Given the description of an element on the screen output the (x, y) to click on. 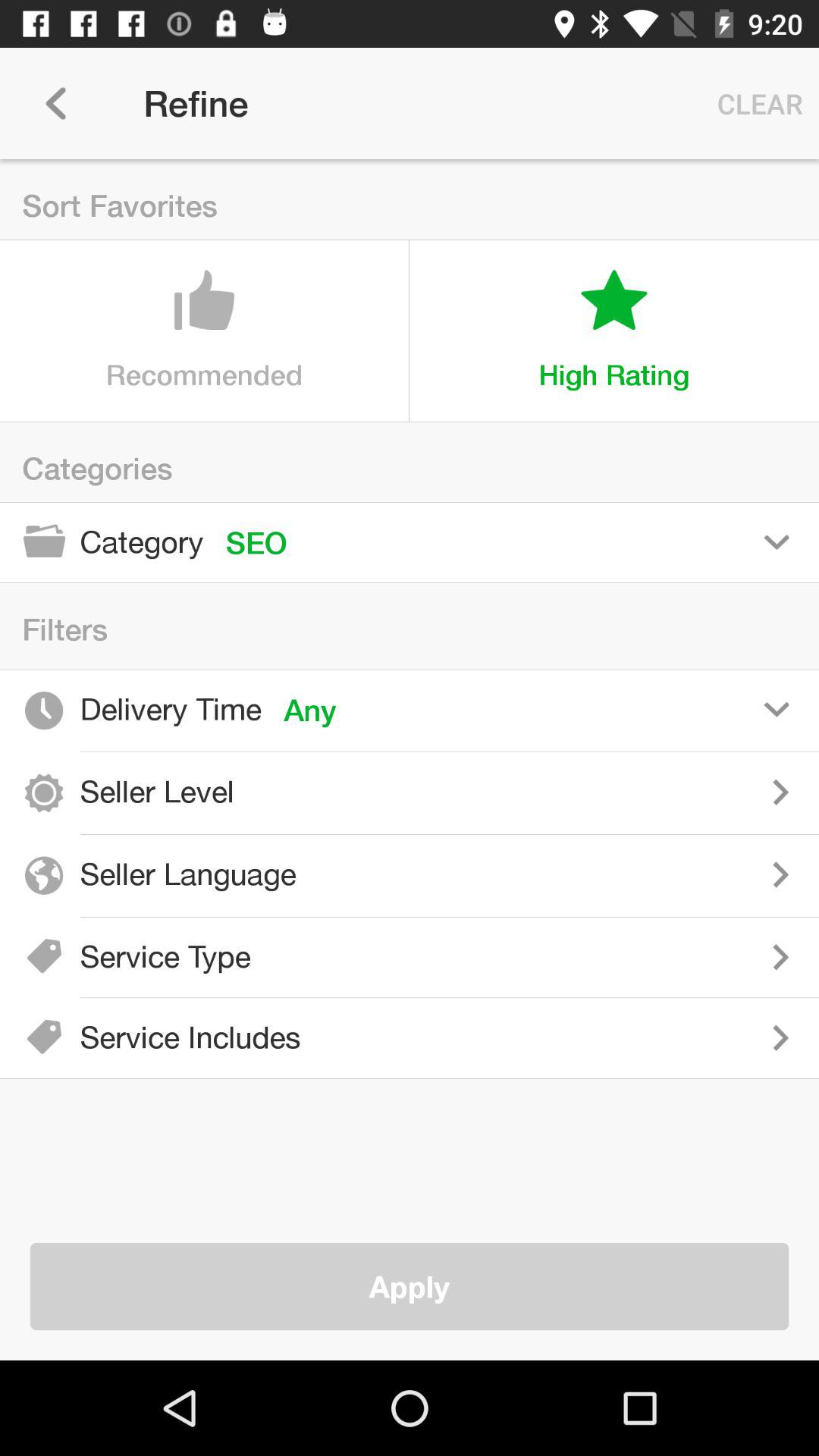
jump until the clear (756, 103)
